Given the description of an element on the screen output the (x, y) to click on. 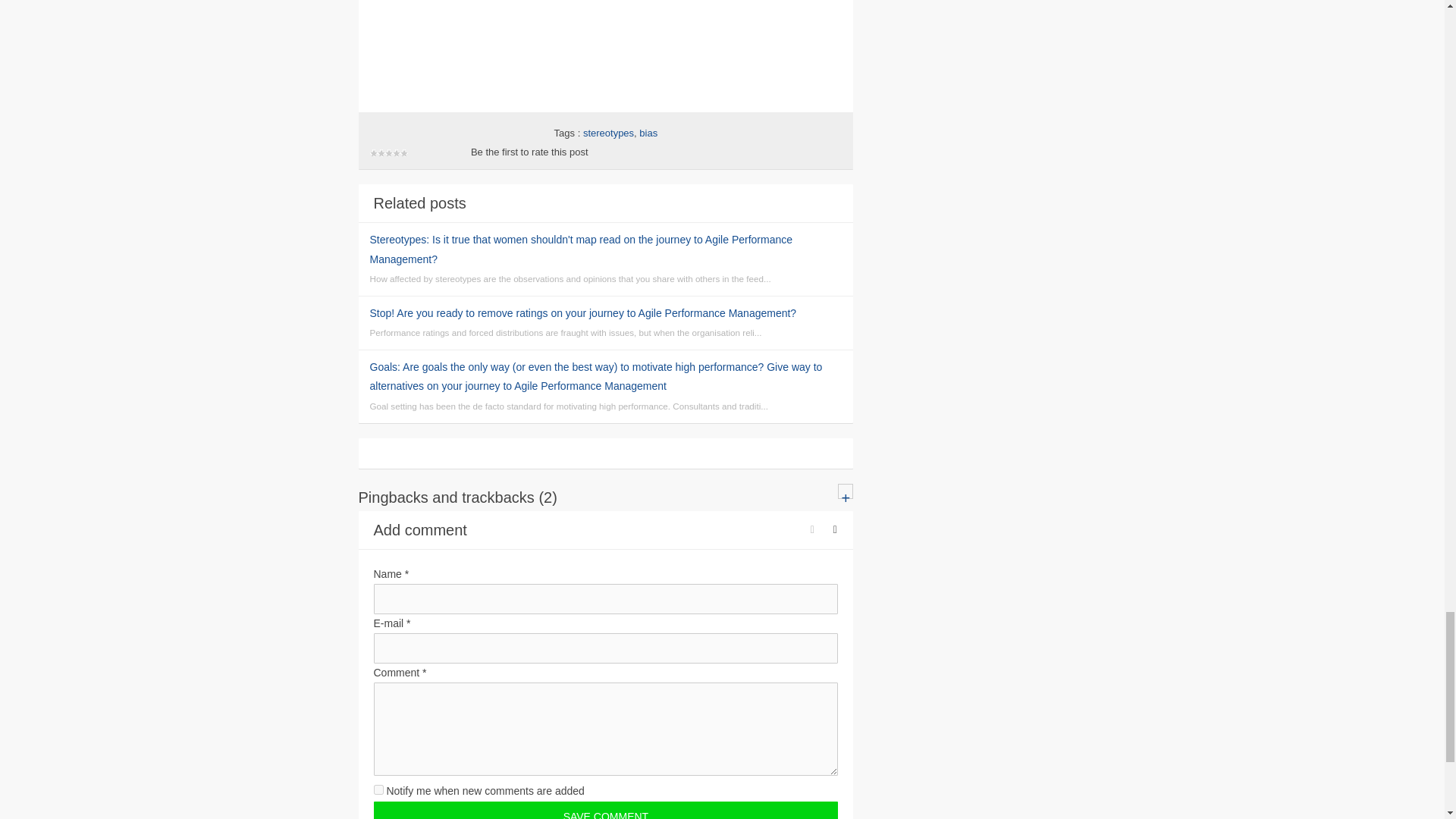
Save comment (605, 810)
Rate this 3 stars out of 5 (381, 158)
5 (388, 158)
3 (381, 158)
Rate this 5 stars out of 5 (388, 158)
on (377, 789)
4 (384, 158)
stereotypes (608, 132)
bias (648, 132)
Rate this 4 stars out of 5 (384, 158)
